Given the description of an element on the screen output the (x, y) to click on. 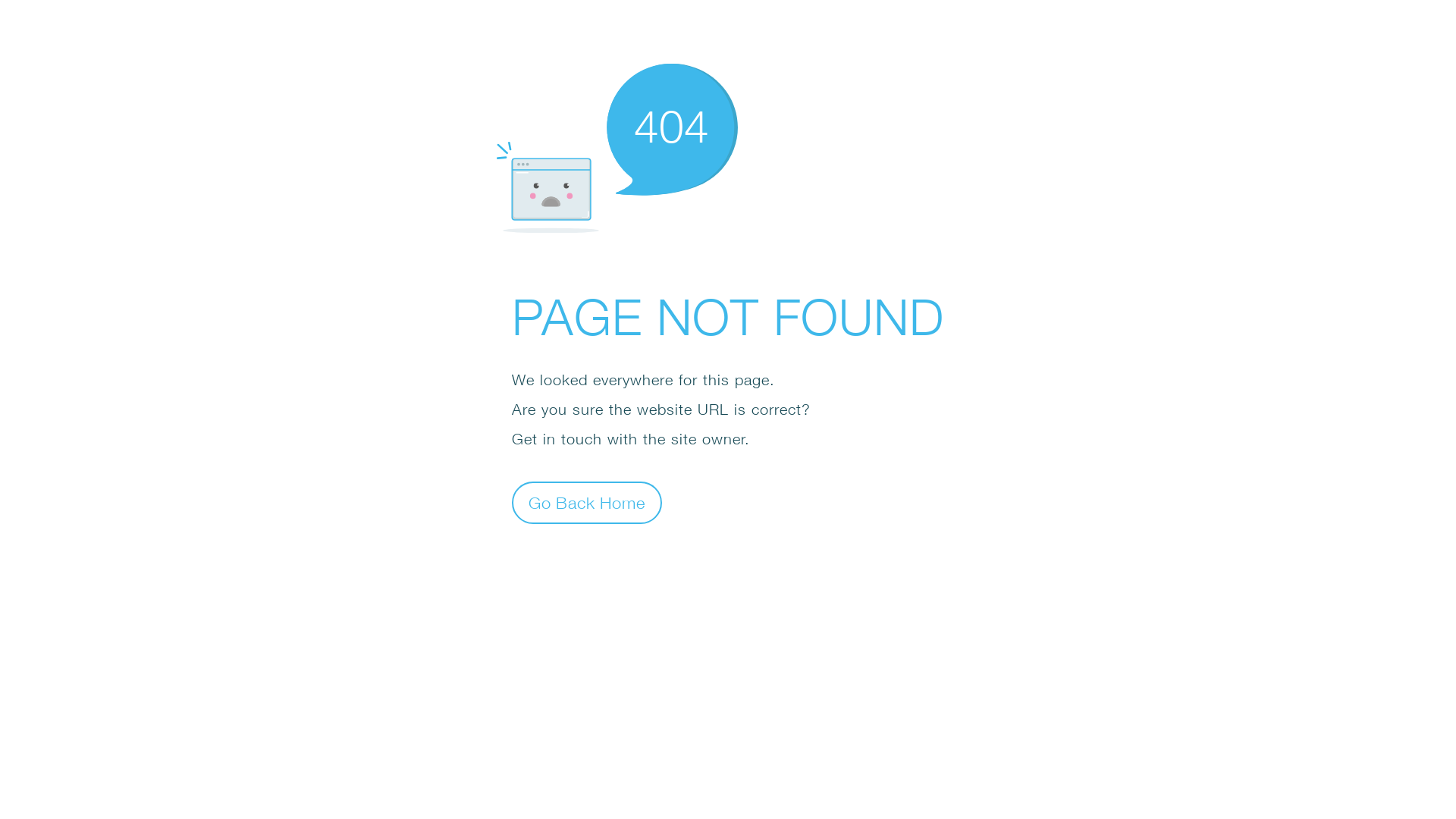
Go Back Home Element type: text (586, 502)
